Given the description of an element on the screen output the (x, y) to click on. 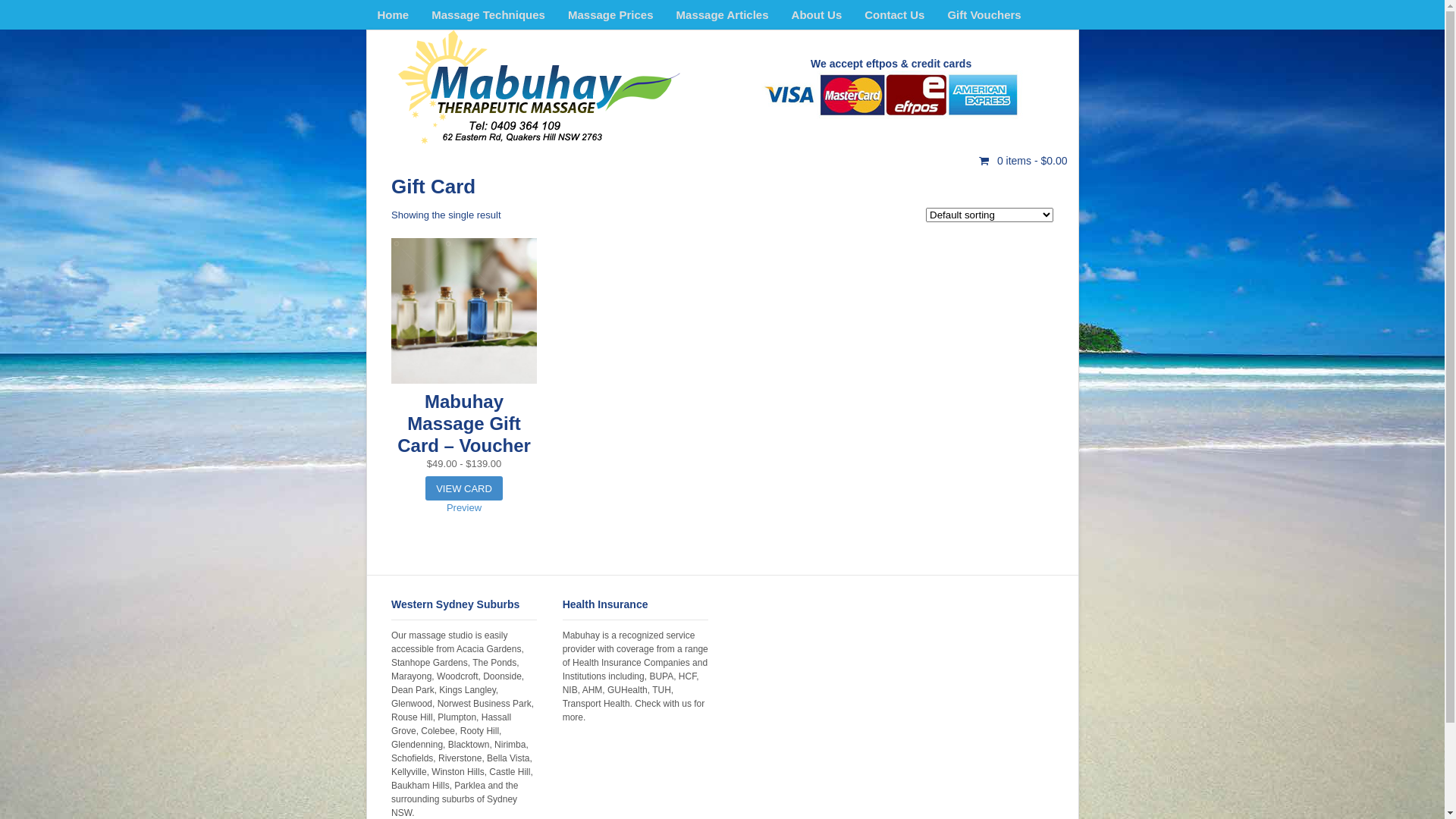
About Us Element type: text (816, 14)
Home Element type: text (392, 14)
Massage Techniques Element type: text (488, 14)
0 items - $0.00 Element type: text (1023, 159)
Massage Prices Element type: text (610, 14)
Contact Us Element type: text (894, 14)
Gift Vouchers Element type: text (983, 14)
Preview Element type: text (463, 507)
Massage Articles Element type: text (722, 14)
VIEW CARD Element type: text (463, 488)
